Given the description of an element on the screen output the (x, y) to click on. 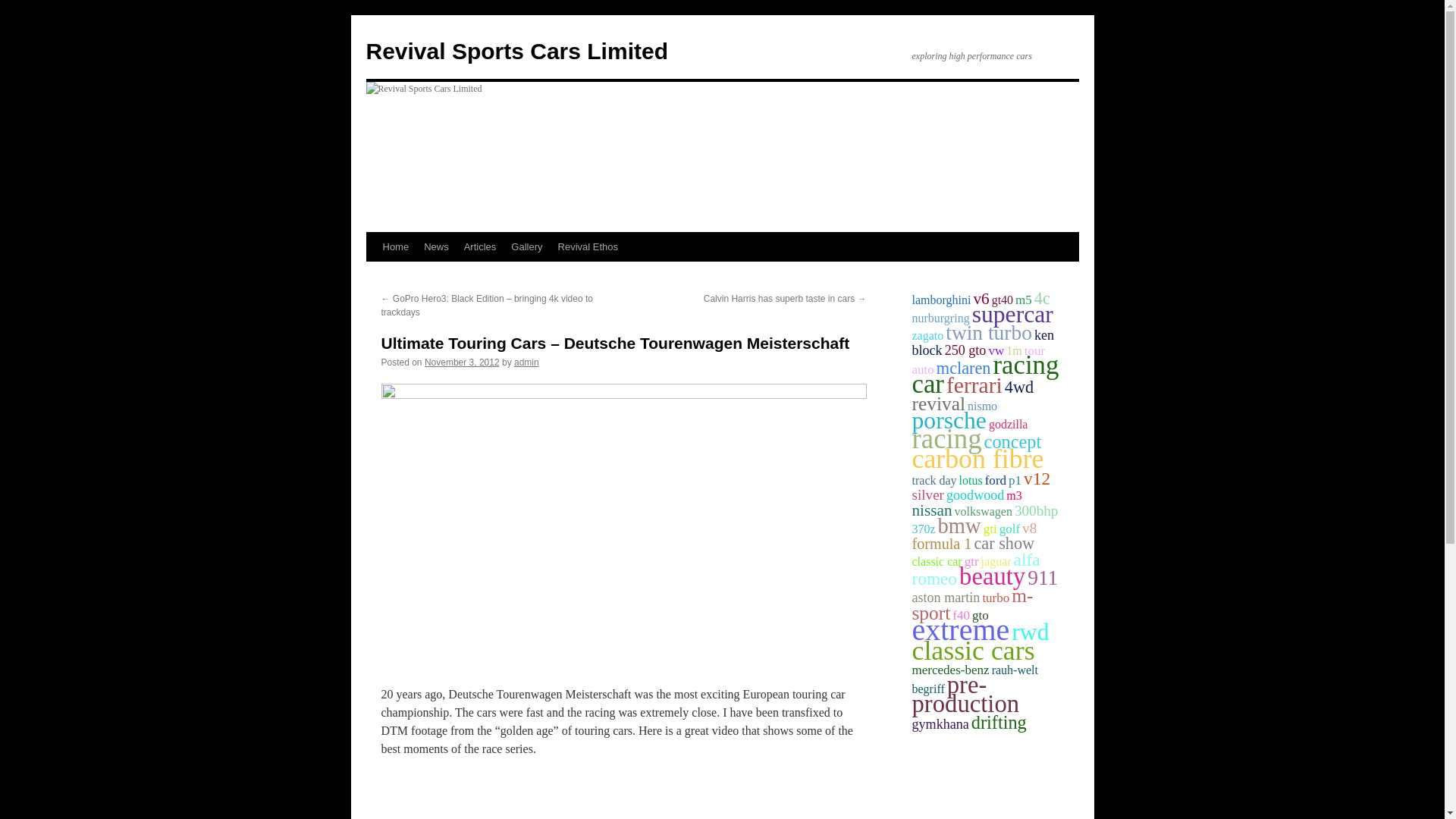
8:35 pm (462, 362)
Home (395, 246)
Articles (480, 246)
View all posts by admin (525, 362)
News (436, 246)
Gallery (526, 246)
Revival Sports Cars Limited (515, 50)
